Given the description of an element on the screen output the (x, y) to click on. 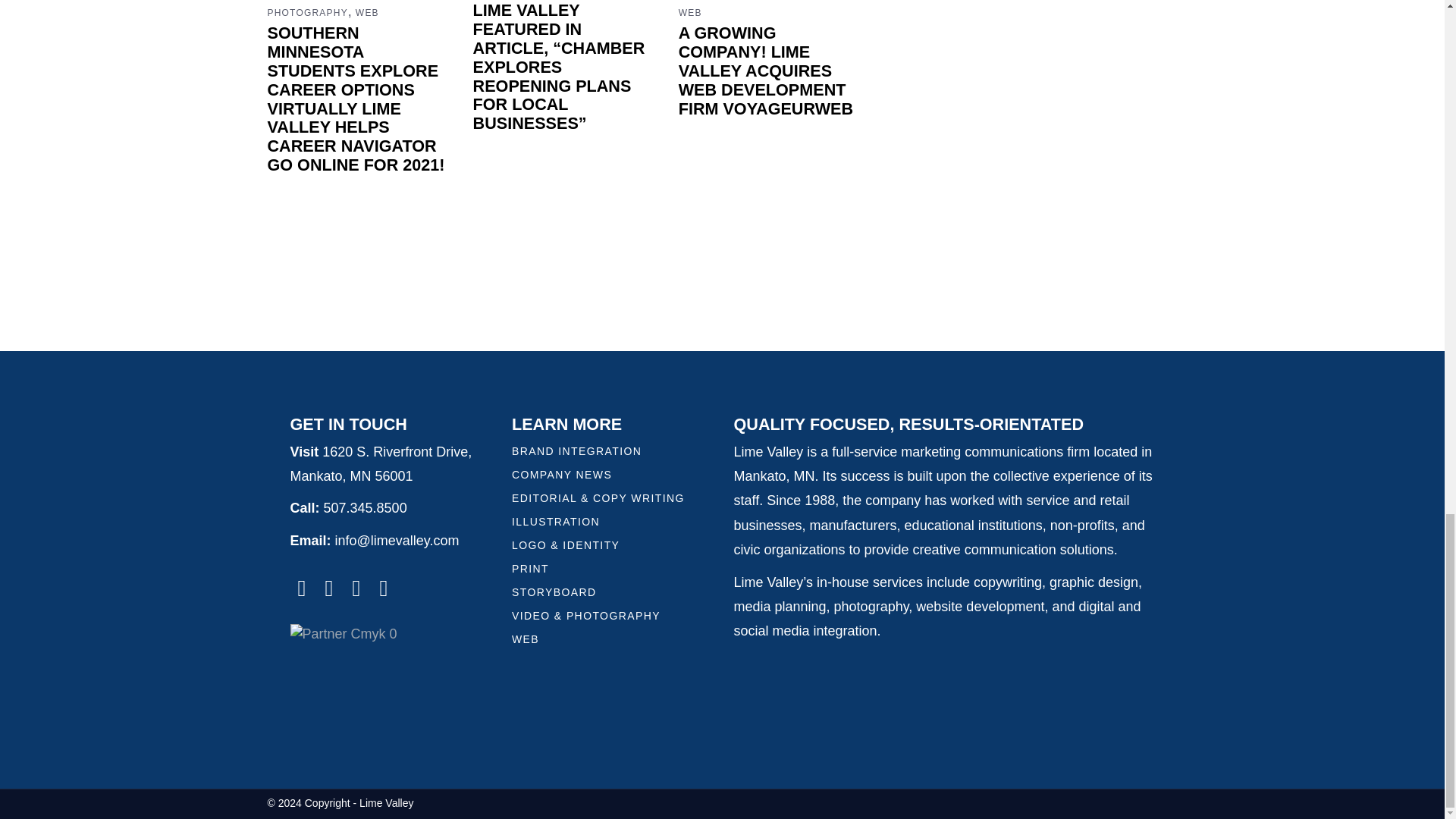
WEB (689, 12)
WEB (366, 12)
